Given the description of an element on the screen output the (x, y) to click on. 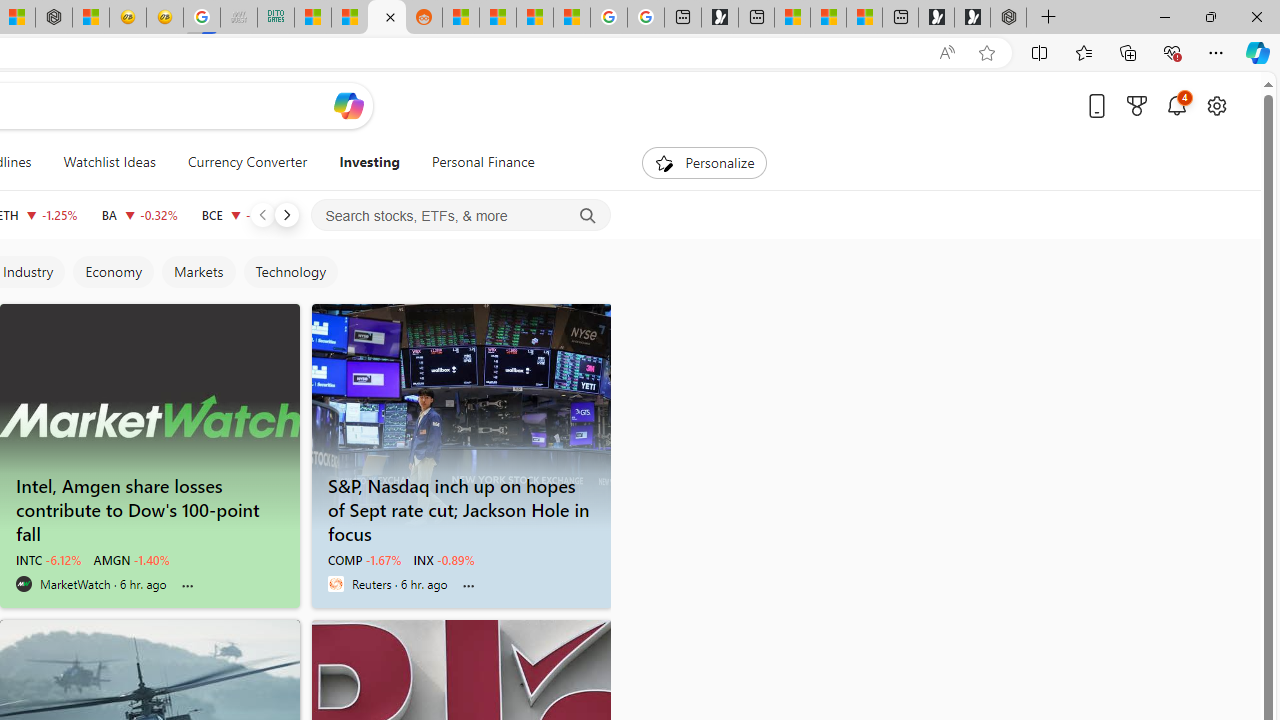
Investing (369, 162)
INTC -6.12% (48, 560)
Split screen (1039, 52)
Reuters (335, 583)
Play Free Online Games | Games from Microsoft Start (971, 17)
Add this page to favorites (Ctrl+D) (986, 53)
Favorites (1083, 52)
MarketWatch (23, 583)
Restore (1210, 16)
Nordace - #1 Japanese Best-Seller - Siena Smart Backpack (53, 17)
BCE BCE Inc decrease 34.55 -0.07 -0.20% (242, 214)
Open Copilot (347, 105)
